Given the description of an element on the screen output the (x, y) to click on. 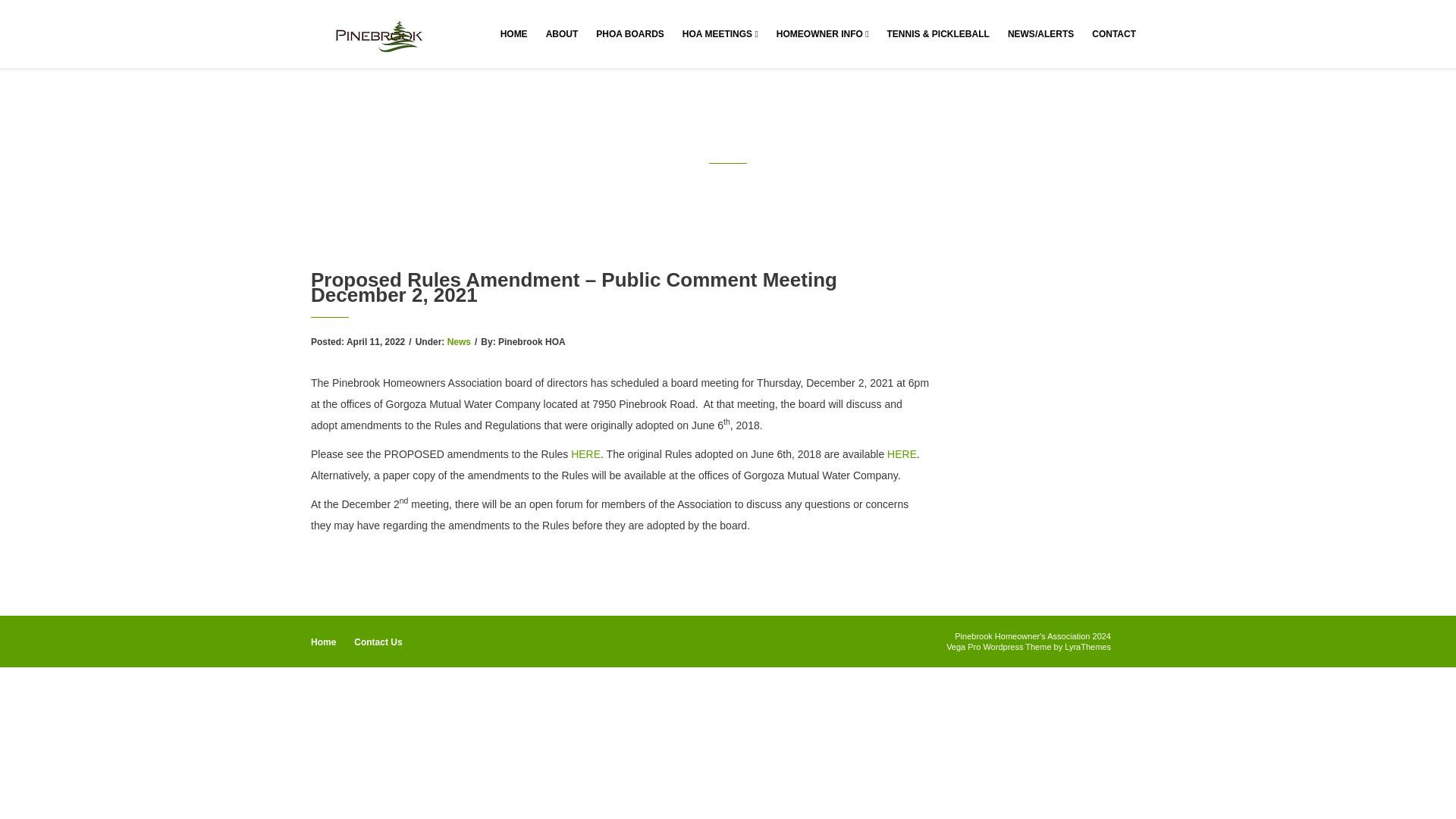
HERE (584, 453)
HERE (901, 453)
PHOA BOARDS (629, 33)
Contact Us (377, 642)
CONTACT (1113, 33)
HOA MEETINGS (719, 33)
Home (323, 642)
HOMEOWNER INFO (822, 33)
News (458, 341)
Vega Pro Wordpress Theme (998, 646)
LyraThemes (1087, 646)
